Given the description of an element on the screen output the (x, y) to click on. 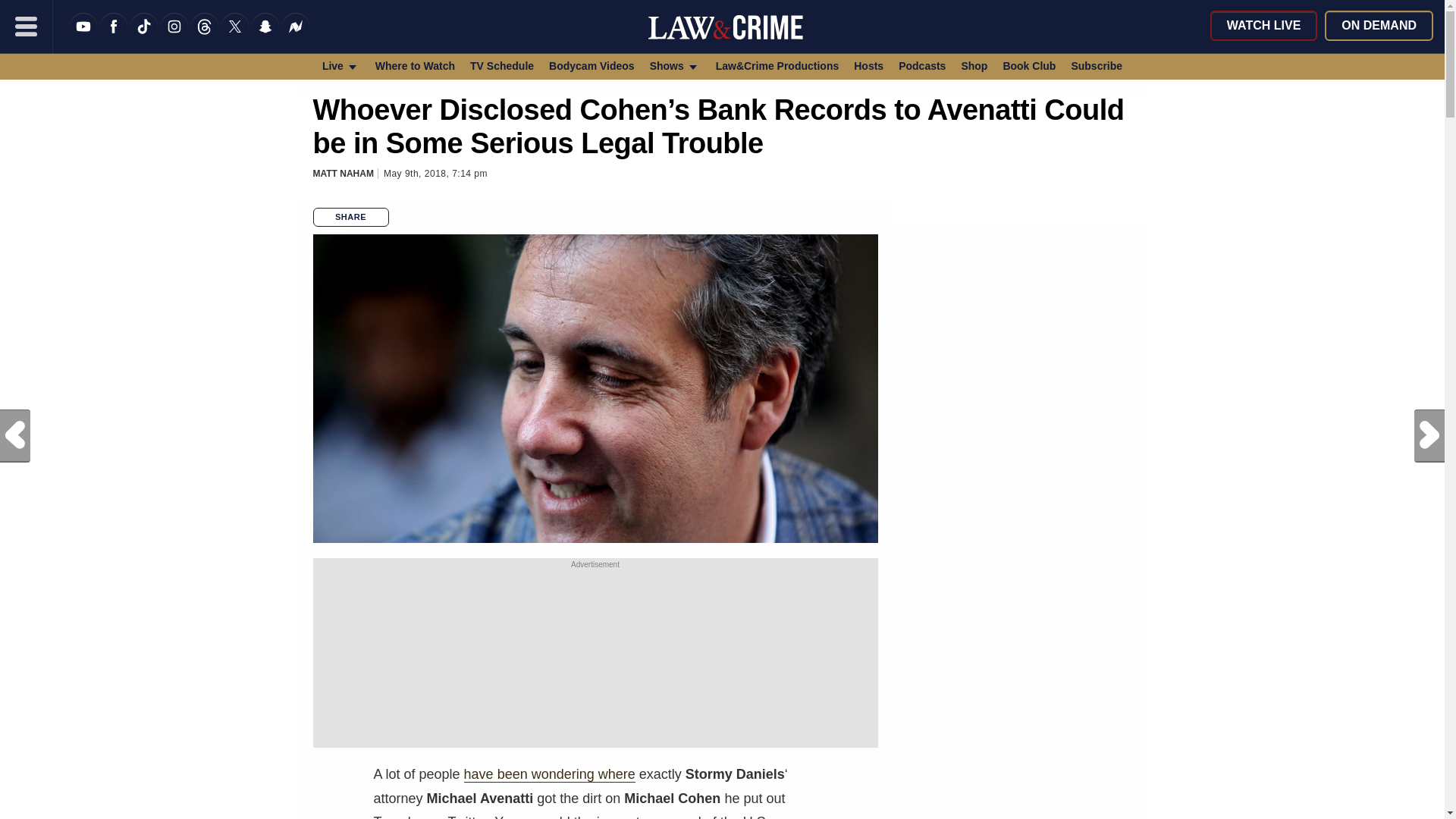
Snapchat (265, 35)
YouTube (83, 35)
TikTok (144, 35)
Instagram (173, 35)
News Break (295, 35)
Posts by Matt Naham (342, 173)
Threads (204, 35)
Like us on Facebook (114, 35)
